Given the description of an element on the screen output the (x, y) to click on. 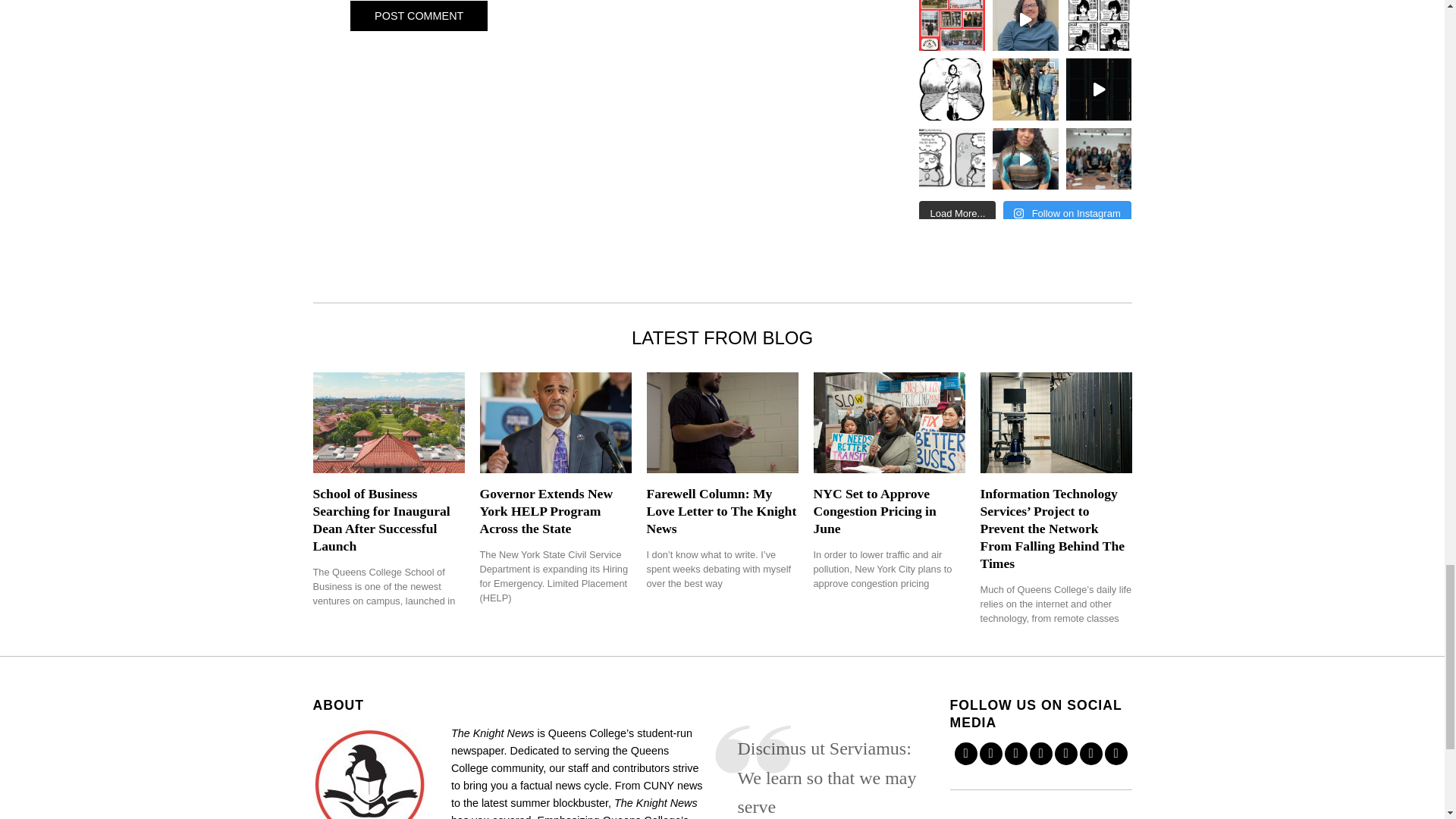
Post Comment (418, 15)
